Given the description of an element on the screen output the (x, y) to click on. 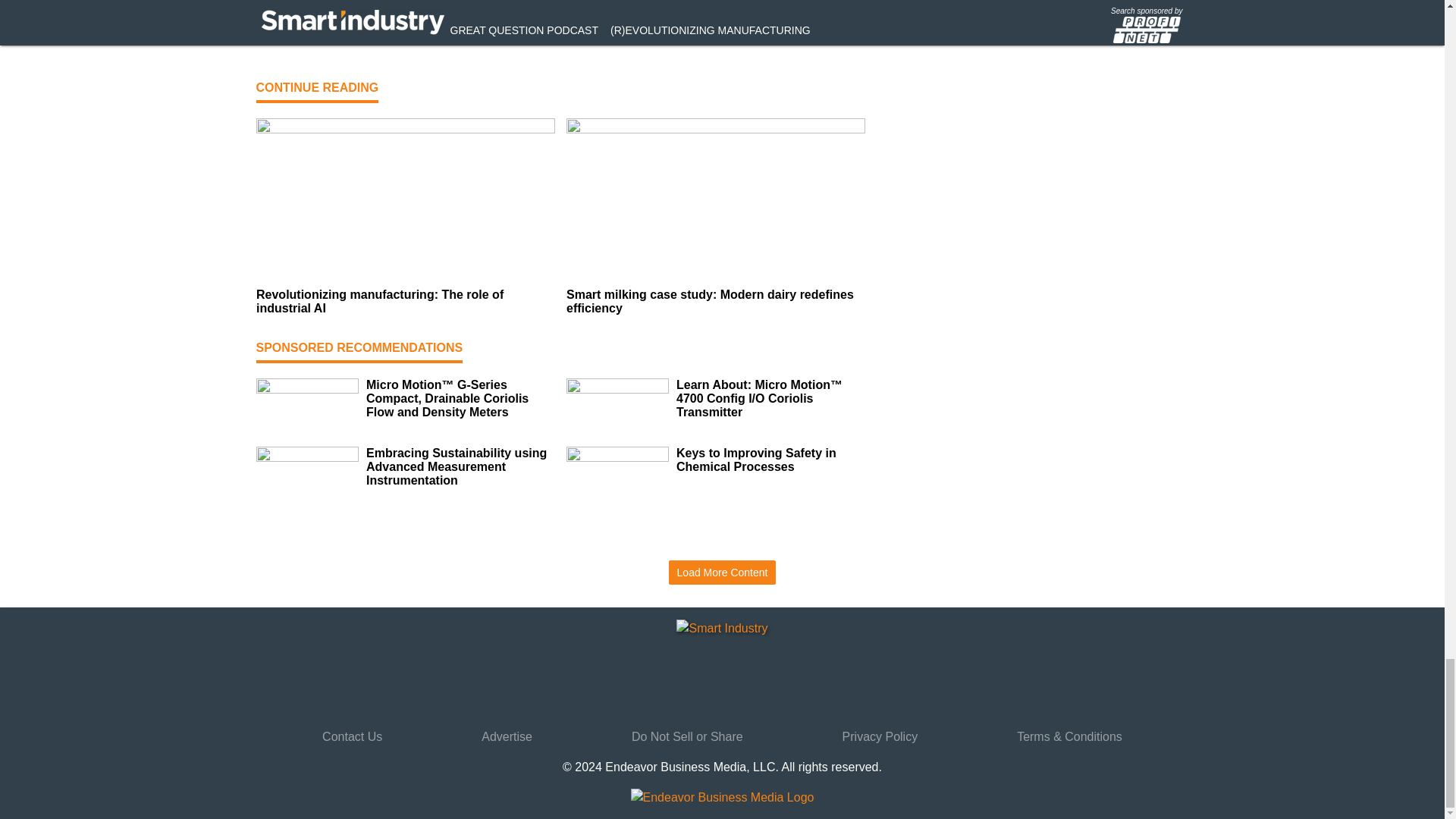
Revolutionizing manufacturing: The role of industrial AI (405, 301)
Keys to Improving Safety in Chemical Processes (770, 460)
Smart milking case study: Modern dairy redefines efficiency (715, 301)
